Given the description of an element on the screen output the (x, y) to click on. 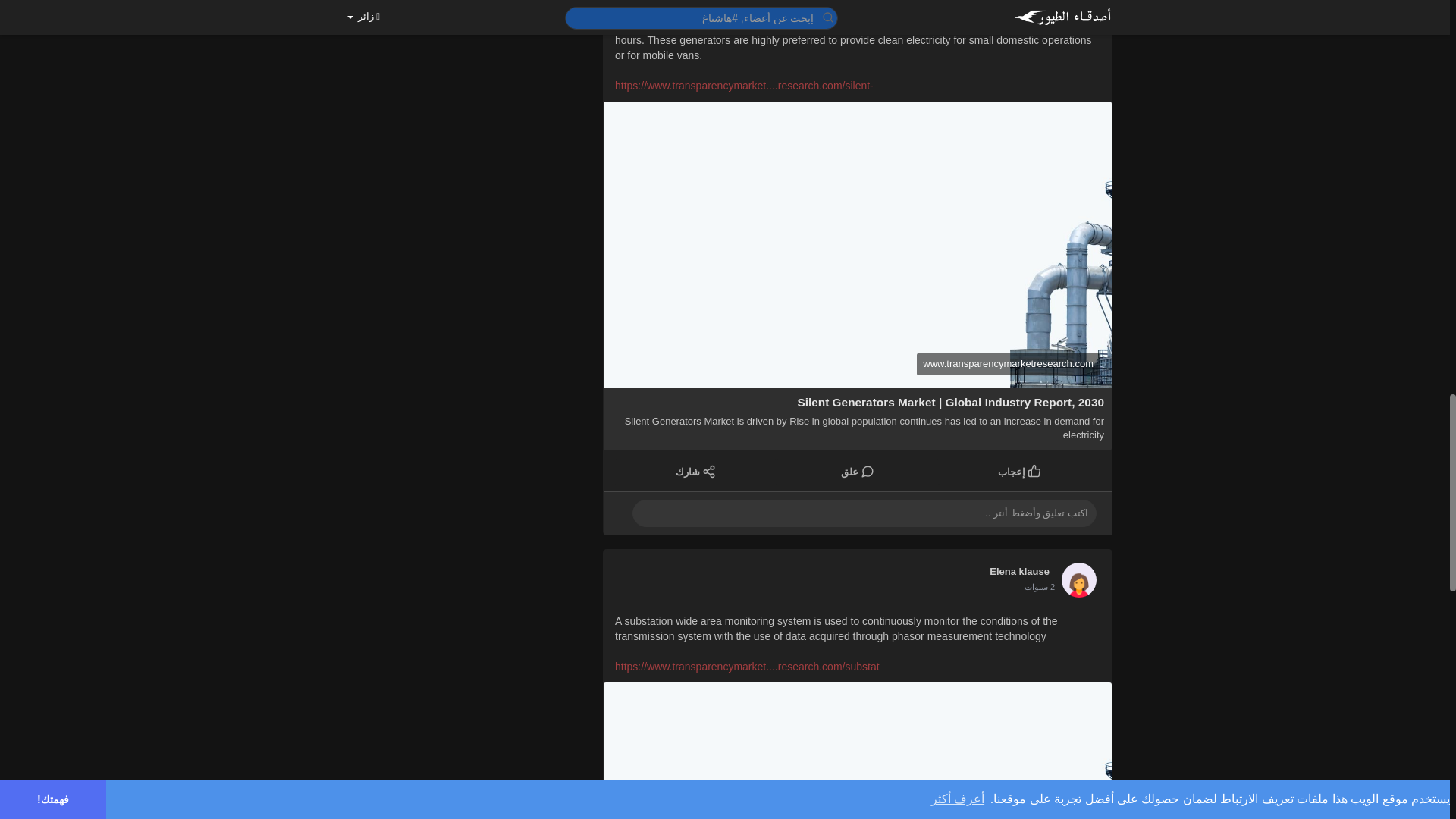
Elena klause (1019, 571)
